Given the description of an element on the screen output the (x, y) to click on. 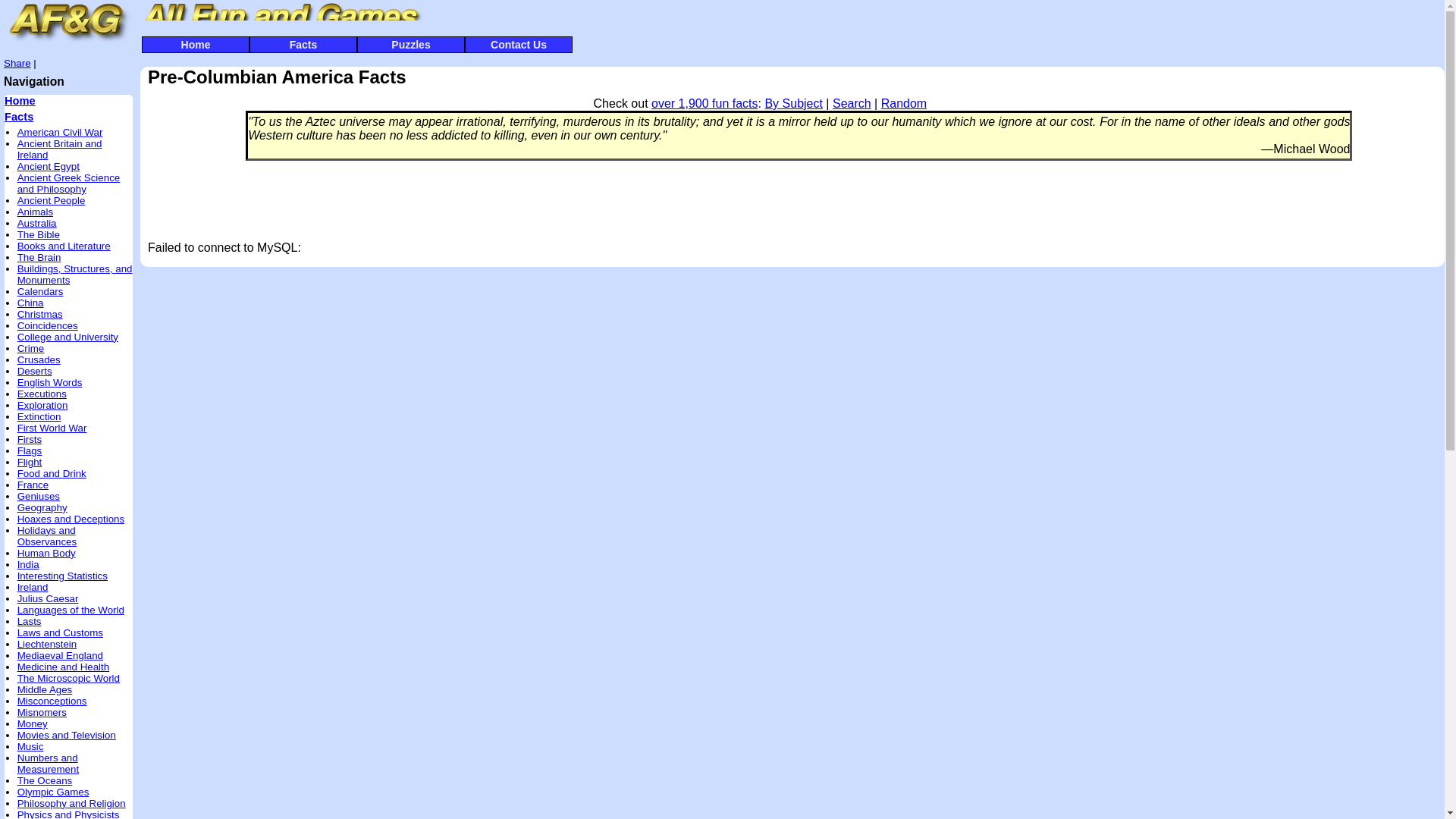
Facts (18, 116)
College and University (67, 337)
Christmas (39, 314)
The Brain (39, 256)
Calendars (40, 291)
China (30, 302)
The Bible (38, 234)
Animals (34, 211)
Ancient Britain and Ireland (59, 149)
Home (19, 101)
